Given the description of an element on the screen output the (x, y) to click on. 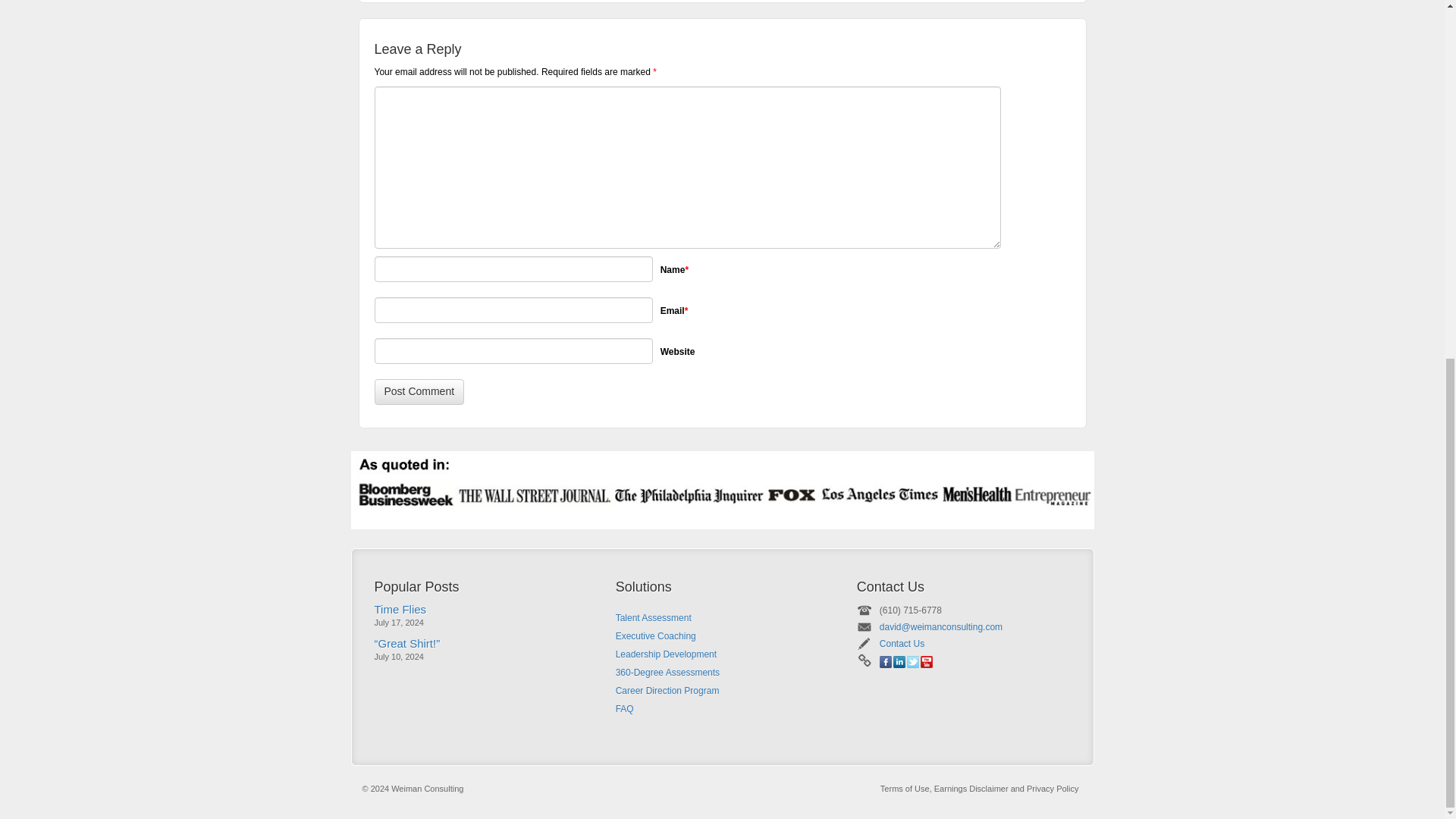
Facebook (885, 662)
Contact Us (901, 643)
Post Comment (419, 391)
Leadership Development (722, 654)
Executive Coaching (722, 636)
Time Flies (400, 608)
Post Comment (419, 391)
Twitter (912, 662)
Time Flies (400, 608)
Linkedin (899, 662)
Talent Assessment (722, 618)
FAQ (722, 709)
360-Degree Assessments (722, 672)
YouTube (926, 662)
Career Direction Program (722, 690)
